Given the description of an element on the screen output the (x, y) to click on. 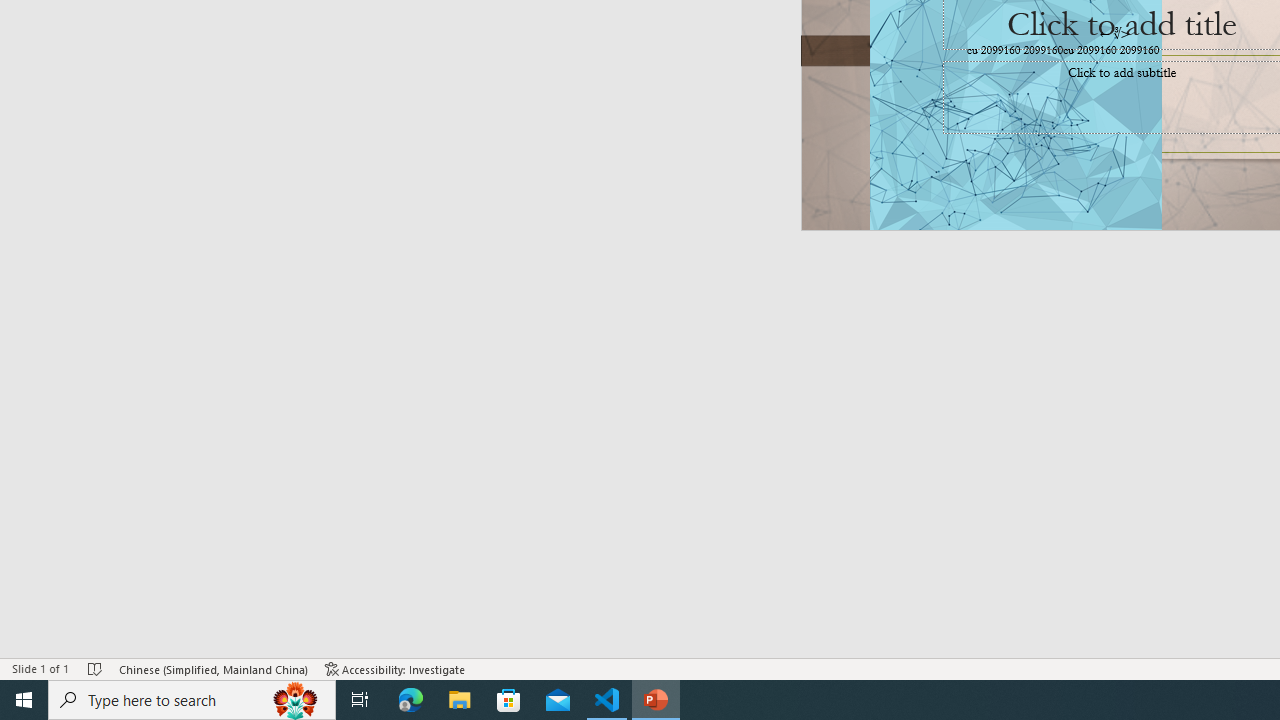
TextBox 7 (1114, 33)
